Given the description of an element on the screen output the (x, y) to click on. 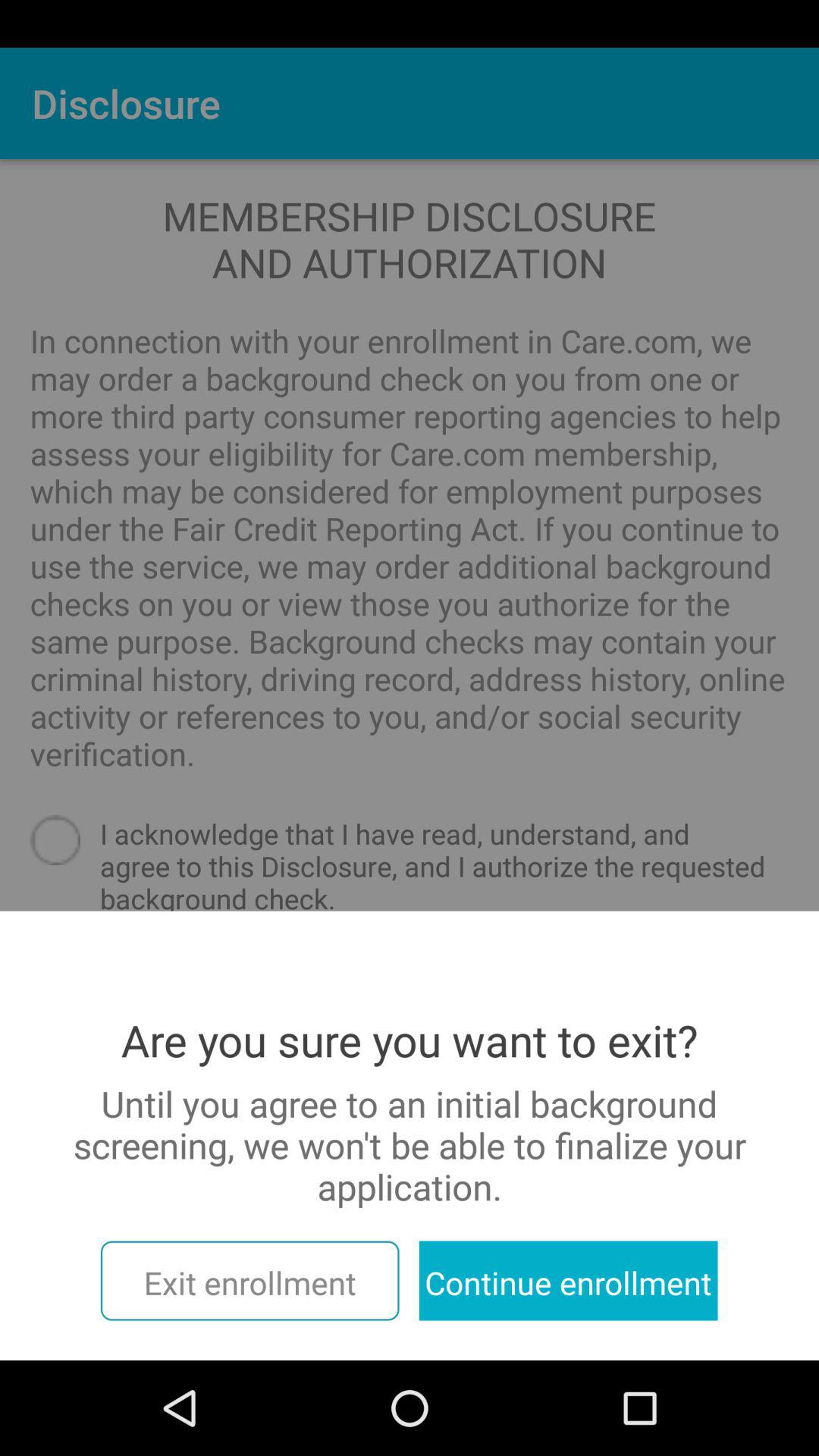
tap the icon to the left of continue enrollment item (249, 1280)
